Given the description of an element on the screen output the (x, y) to click on. 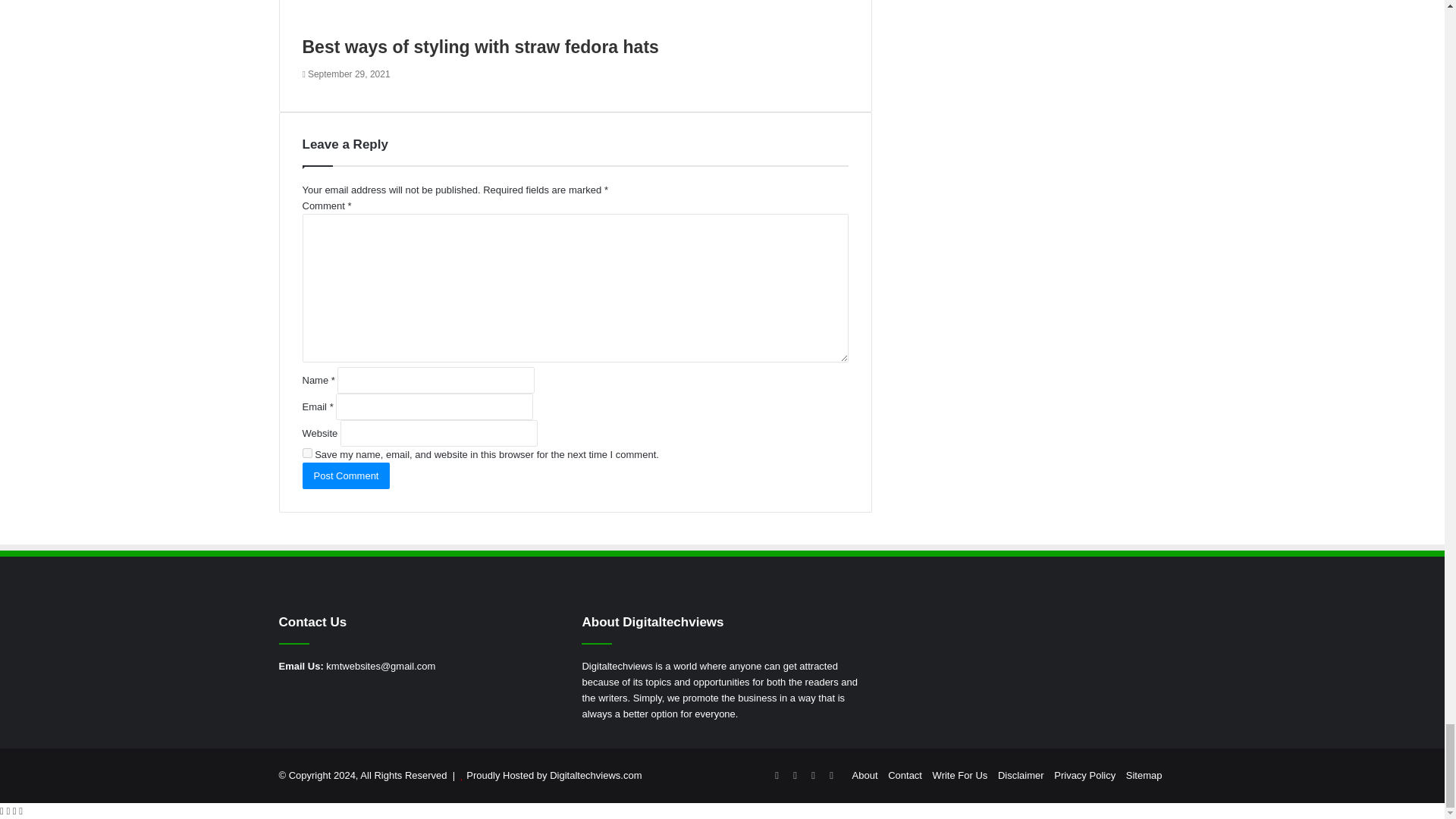
yes (306, 452)
Post Comment (345, 475)
